Given the description of an element on the screen output the (x, y) to click on. 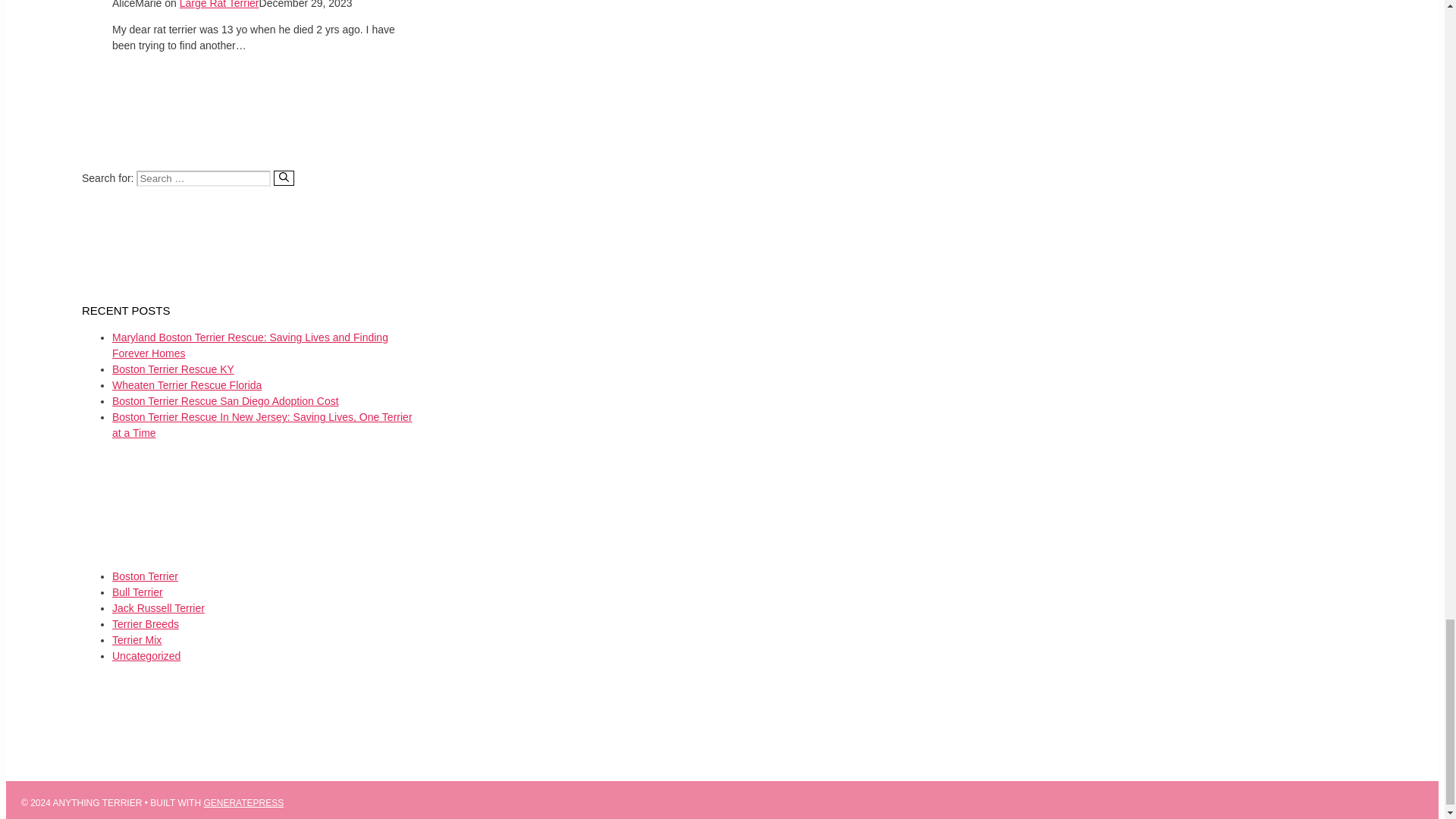
Search for: (203, 178)
Boston Terrier Rescue KY (173, 369)
Boston Terrier (144, 576)
Large Rat Terrier (219, 4)
Wheaten Terrier Rescue Florida (187, 385)
Boston Terrier Rescue San Diego Adoption Cost (225, 400)
